Given the description of an element on the screen output the (x, y) to click on. 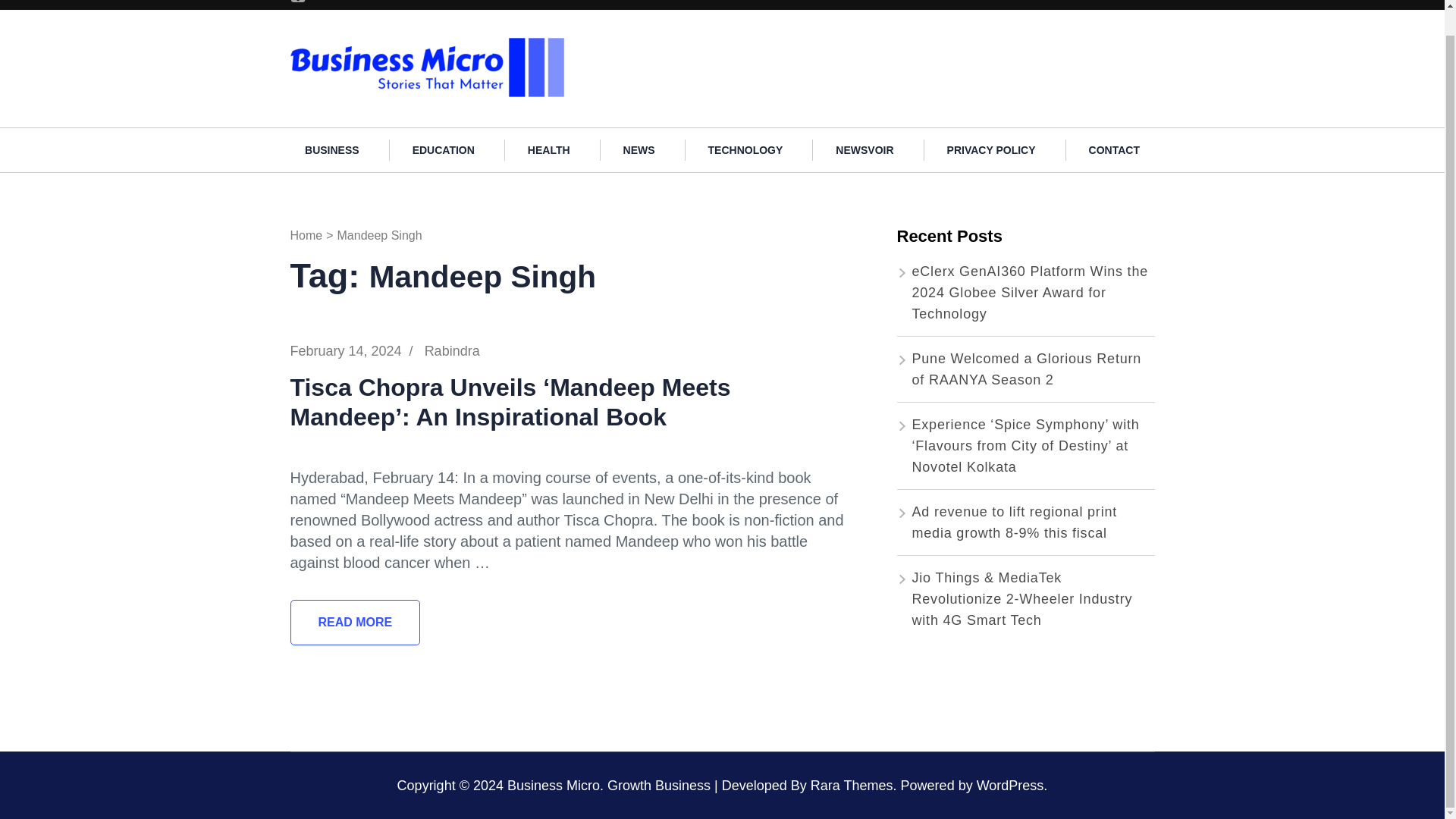
February 14, 2024 (345, 350)
Home (305, 235)
WordPress (1009, 785)
CONTACT (1113, 149)
HEALTH (548, 149)
READ MORE (354, 622)
PRIVACY POLICY (991, 149)
Rara Themes (851, 785)
NEWS (639, 149)
Business Micro (628, 43)
TECHNOLOGY (745, 149)
Business Micro (552, 785)
Pune Welcomed a Glorious Return of RAANYA Season 2 (1026, 369)
Rabindra (452, 350)
